Given the description of an element on the screen output the (x, y) to click on. 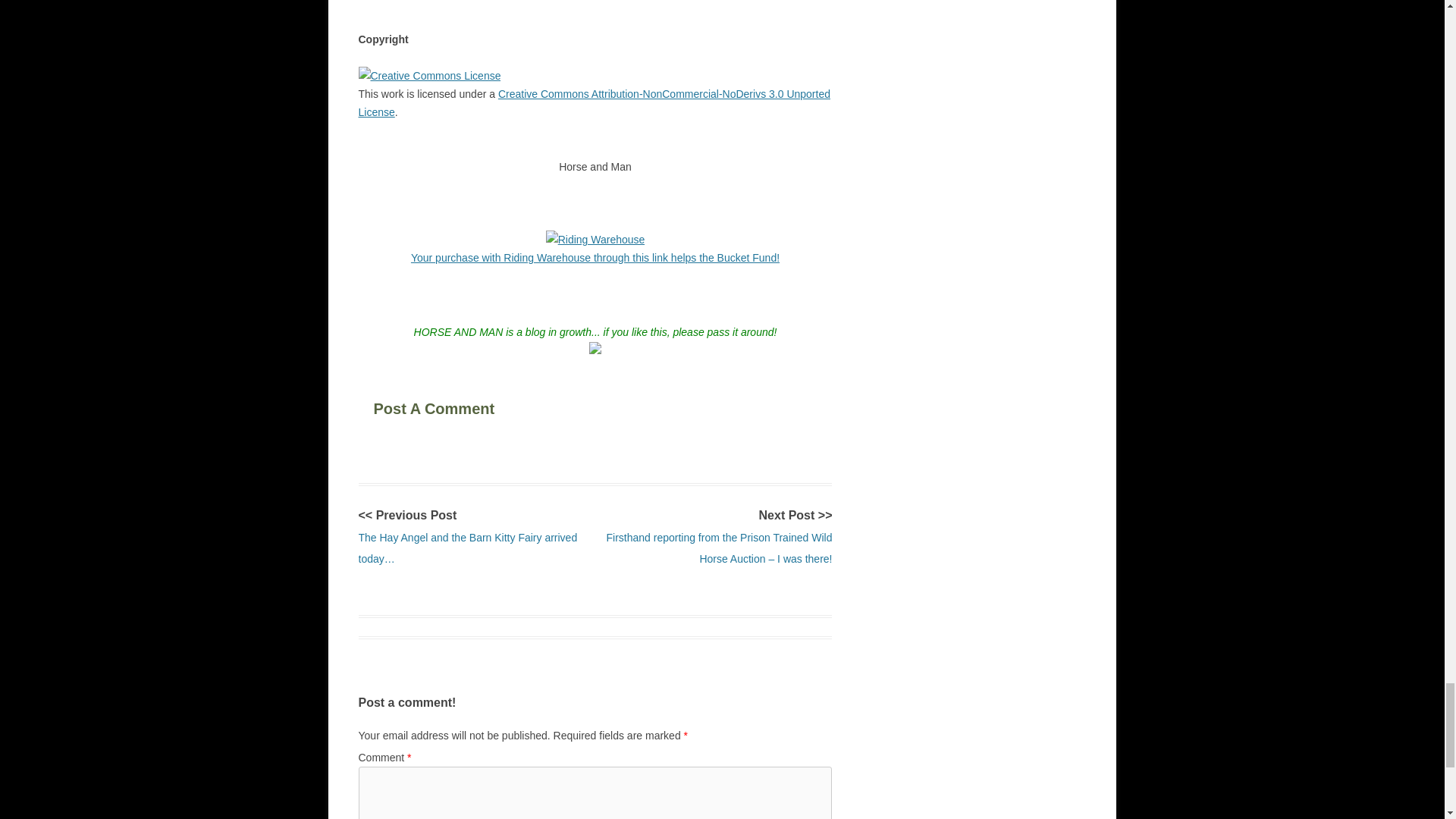
Post A Comment (465, 405)
